Given the description of an element on the screen output the (x, y) to click on. 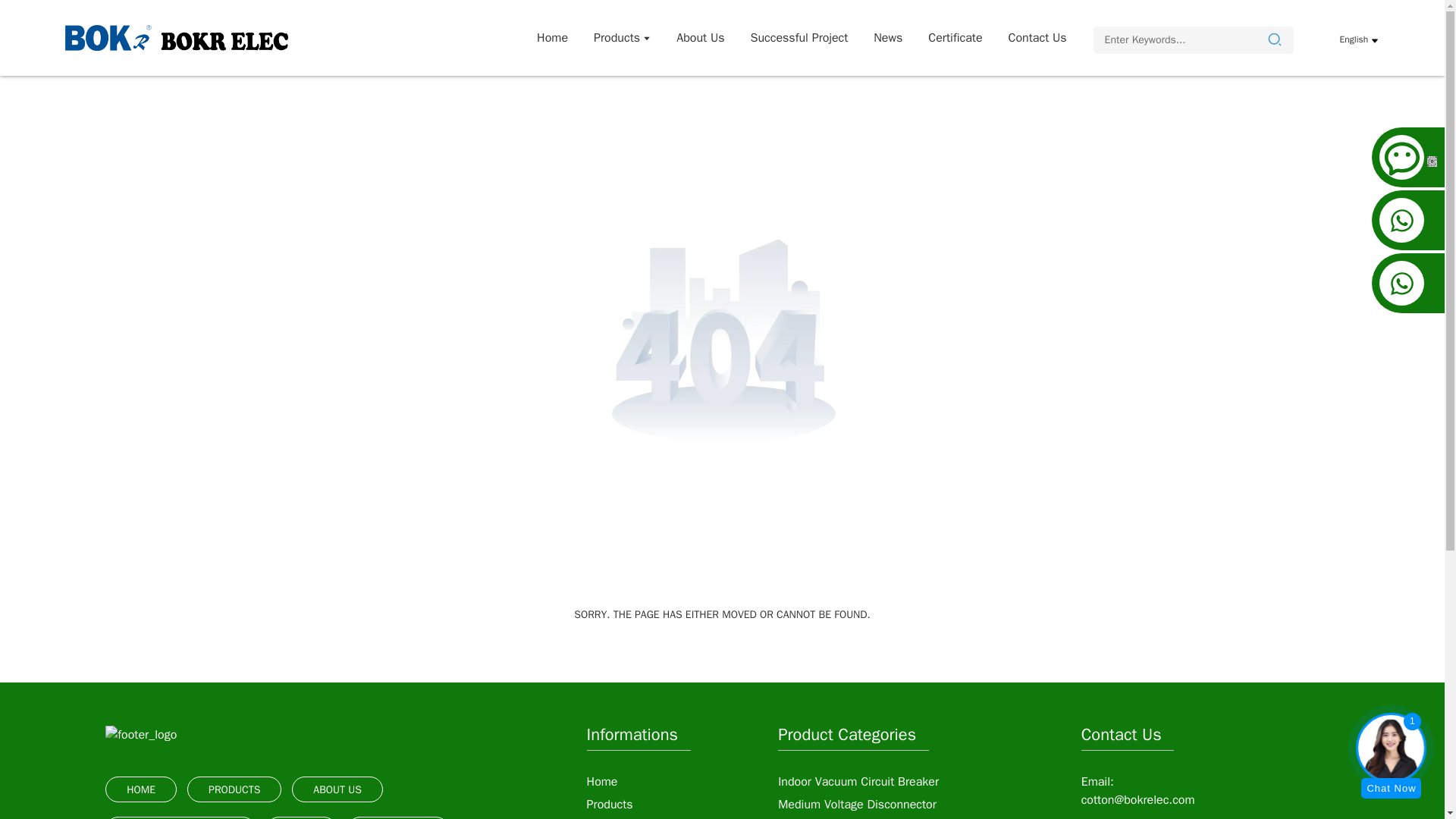
Products (622, 37)
Home (551, 37)
News (887, 37)
Contact Us (1036, 37)
Home (551, 37)
About Us (699, 37)
Successful Project (799, 37)
Certificate (954, 37)
Certificate (954, 37)
Successful Project (799, 37)
